Given the description of an element on the screen output the (x, y) to click on. 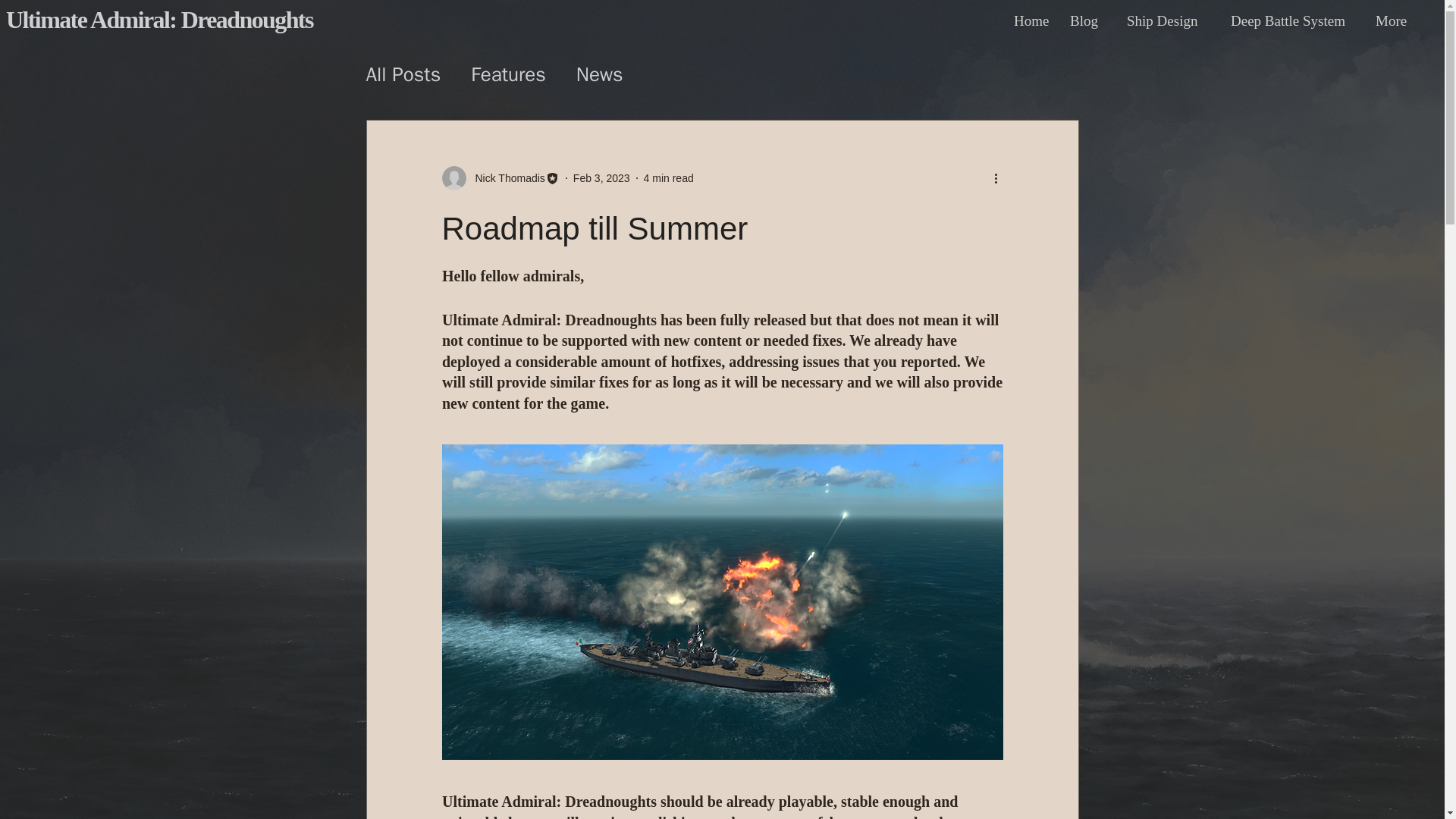
Ship Design (1167, 20)
All Posts (403, 73)
Deep Battle System (1292, 20)
News (599, 73)
Nick Thomadis (504, 177)
Feb 3, 2023 (601, 177)
Features (508, 73)
Home (1030, 20)
4 min read (668, 177)
Ultimate Admiral: Dreadnoughts (159, 19)
Blog (1086, 20)
